Given the description of an element on the screen output the (x, y) to click on. 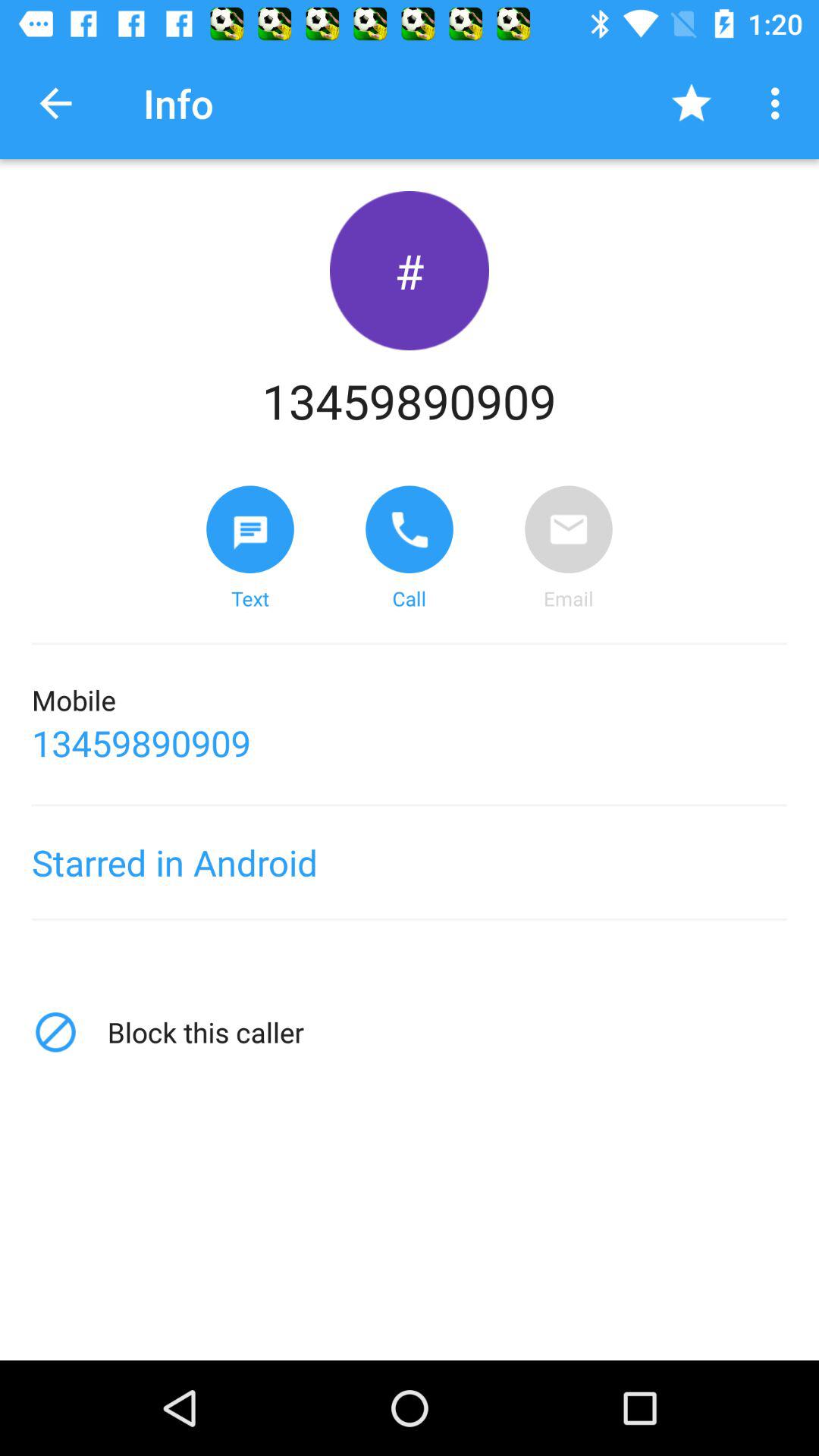
tap item next to the info (691, 103)
